Given the description of an element on the screen output the (x, y) to click on. 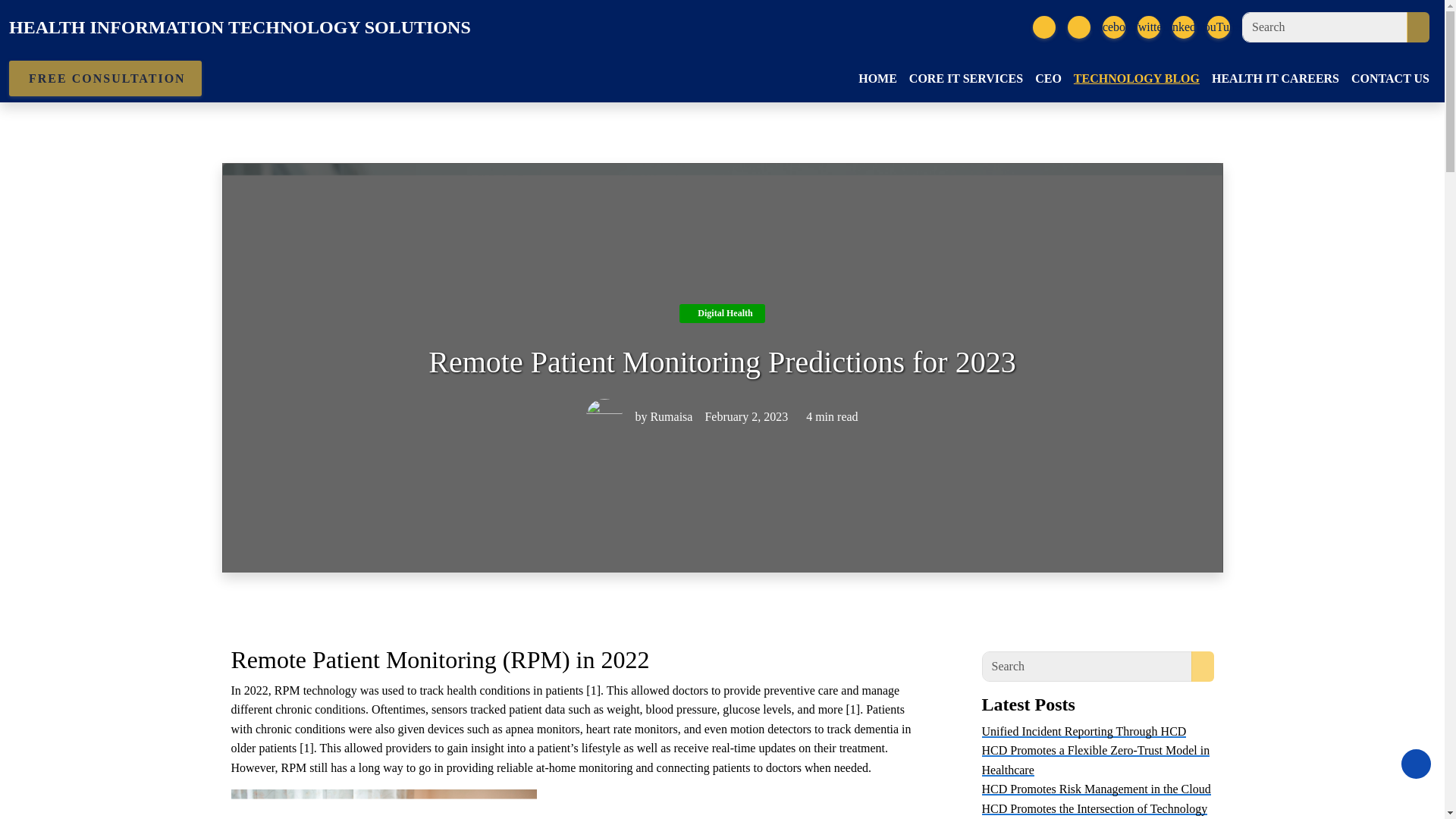
Facebook (1113, 26)
CEO (1048, 79)
TECHNOLOGY BLOG (1136, 79)
CONTACT US (1390, 79)
Unified Incident Reporting Through HCD (1083, 730)
Give us a call. (1078, 26)
HEALTH IT CAREERS (1275, 79)
Health Information Technology Solutions (239, 27)
LinkedIn (1183, 26)
HCD Promotes a Flexible Zero-Trust Model in Healthcare (1095, 759)
